Given the description of an element on the screen output the (x, y) to click on. 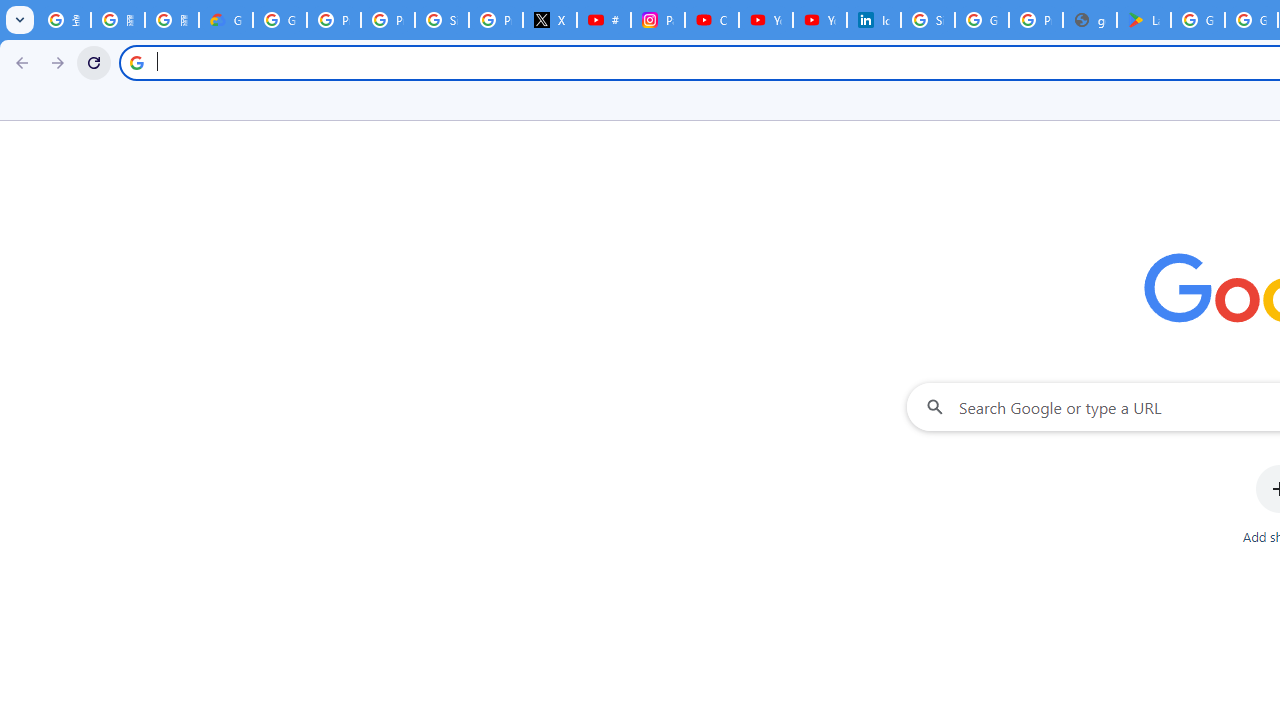
Last Shelter: Survival - Apps on Google Play (1144, 20)
YouTube Culture & Trends - YouTube Top 10, 2021 (819, 20)
X (550, 20)
Privacy Help Center - Policies Help (387, 20)
